Given the description of an element on the screen output the (x, y) to click on. 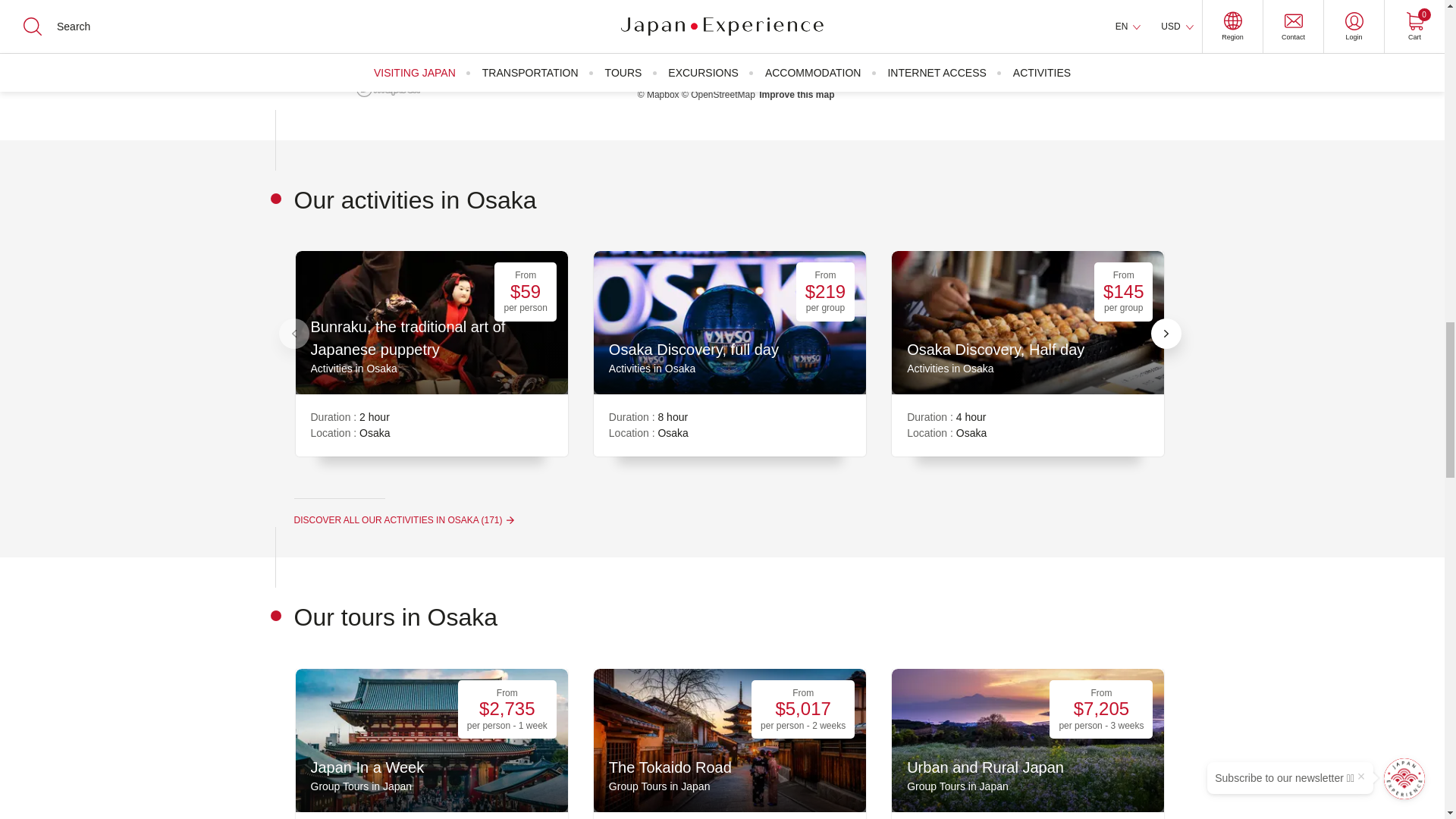
Improve this map (796, 94)
OpenStreetMap (718, 94)
Mapbox (658, 94)
